Given the description of an element on the screen output the (x, y) to click on. 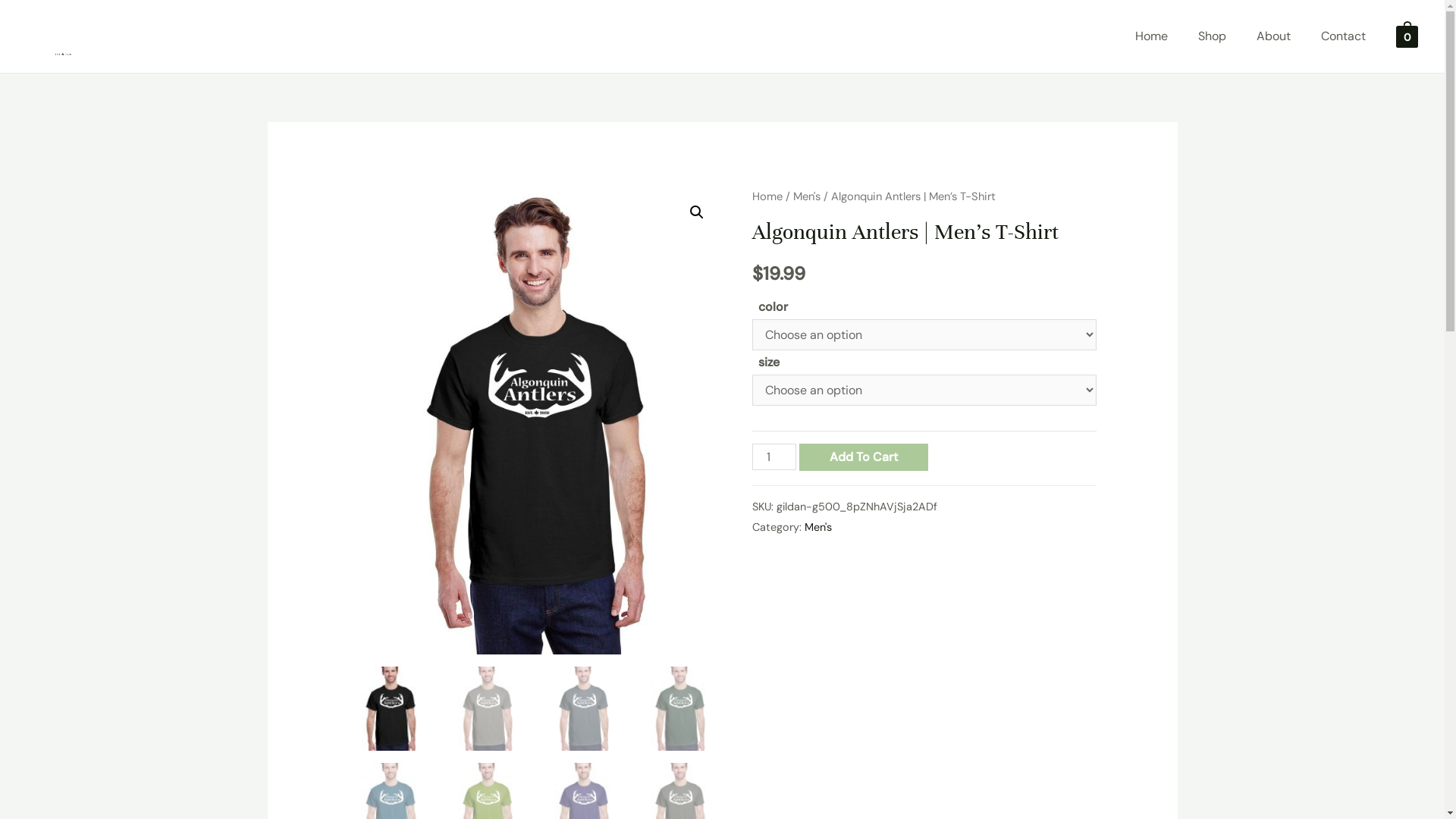
Men's Element type: text (806, 195)
Home Element type: text (767, 195)
Qty Element type: hover (774, 456)
Shop Element type: text (1212, 36)
About Element type: text (1273, 36)
0 Element type: text (1407, 35)
Men's Element type: text (817, 526)
Contact Element type: text (1342, 36)
mockup_front_full_1644506793_G500_51_z.jpg Element type: hover (534, 420)
Home Element type: text (1151, 36)
Add To Cart Element type: text (863, 456)
mockup_front_full_1644506793_G500_43_z.jpg Element type: hover (908, 420)
